Given the description of an element on the screen output the (x, y) to click on. 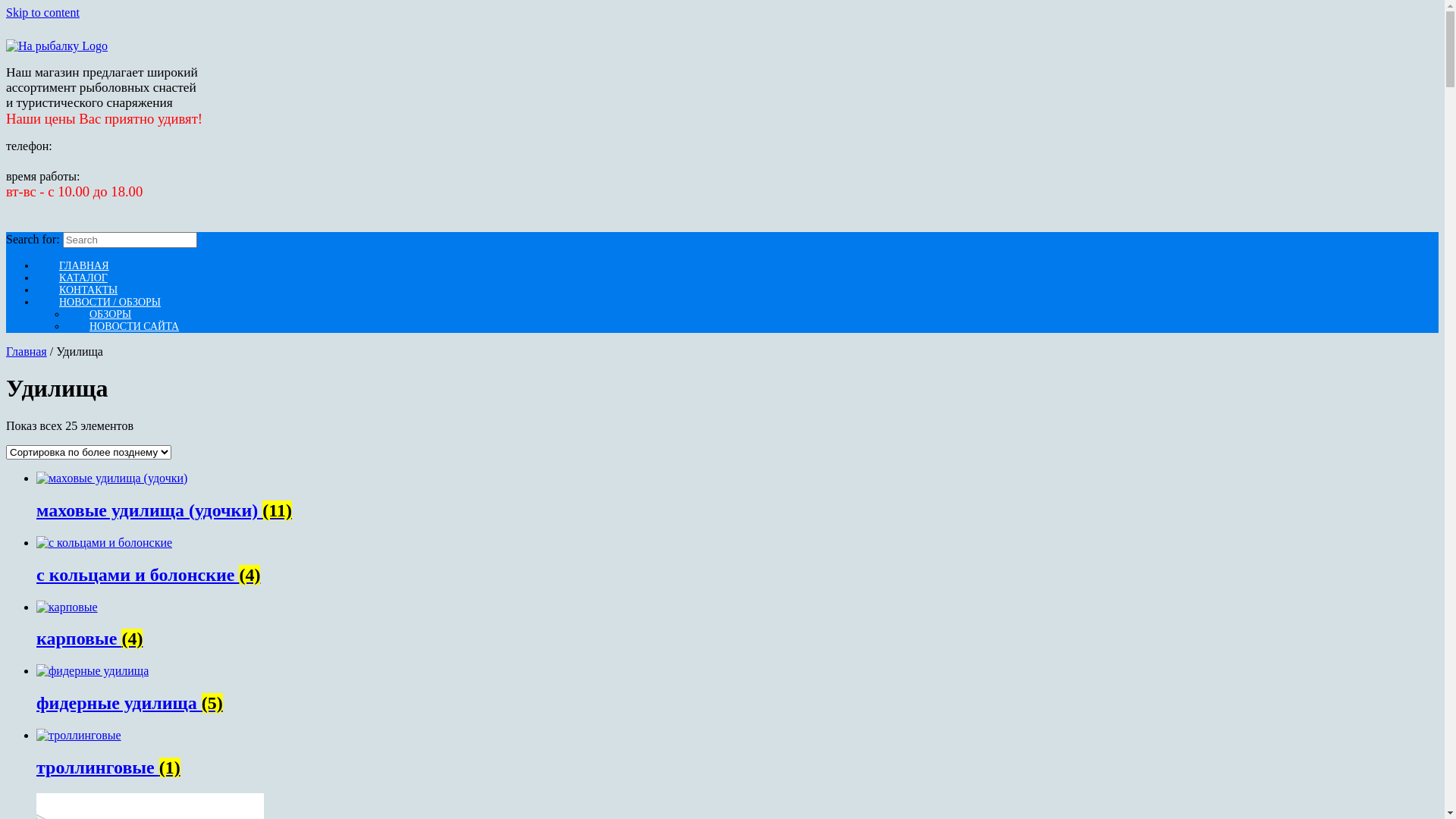
Skip to content Element type: text (42, 12)
